Given the description of an element on the screen output the (x, y) to click on. 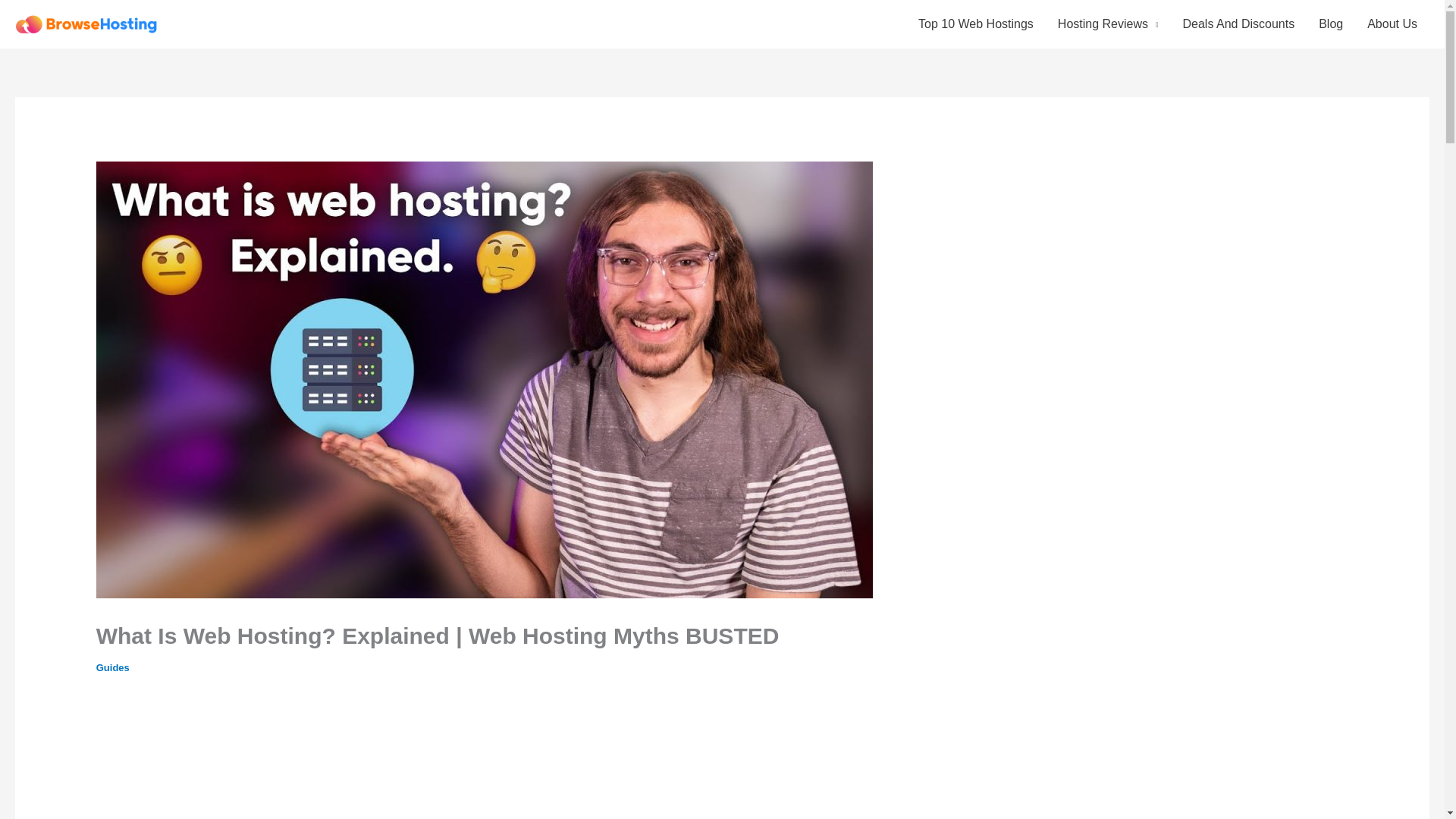
Deals And Discounts (1238, 24)
Top 10 Web Hostings (975, 24)
Guides (112, 667)
About Us (1392, 24)
Blog (1330, 24)
Hosting Reviews (1107, 24)
